Given the description of an element on the screen output the (x, y) to click on. 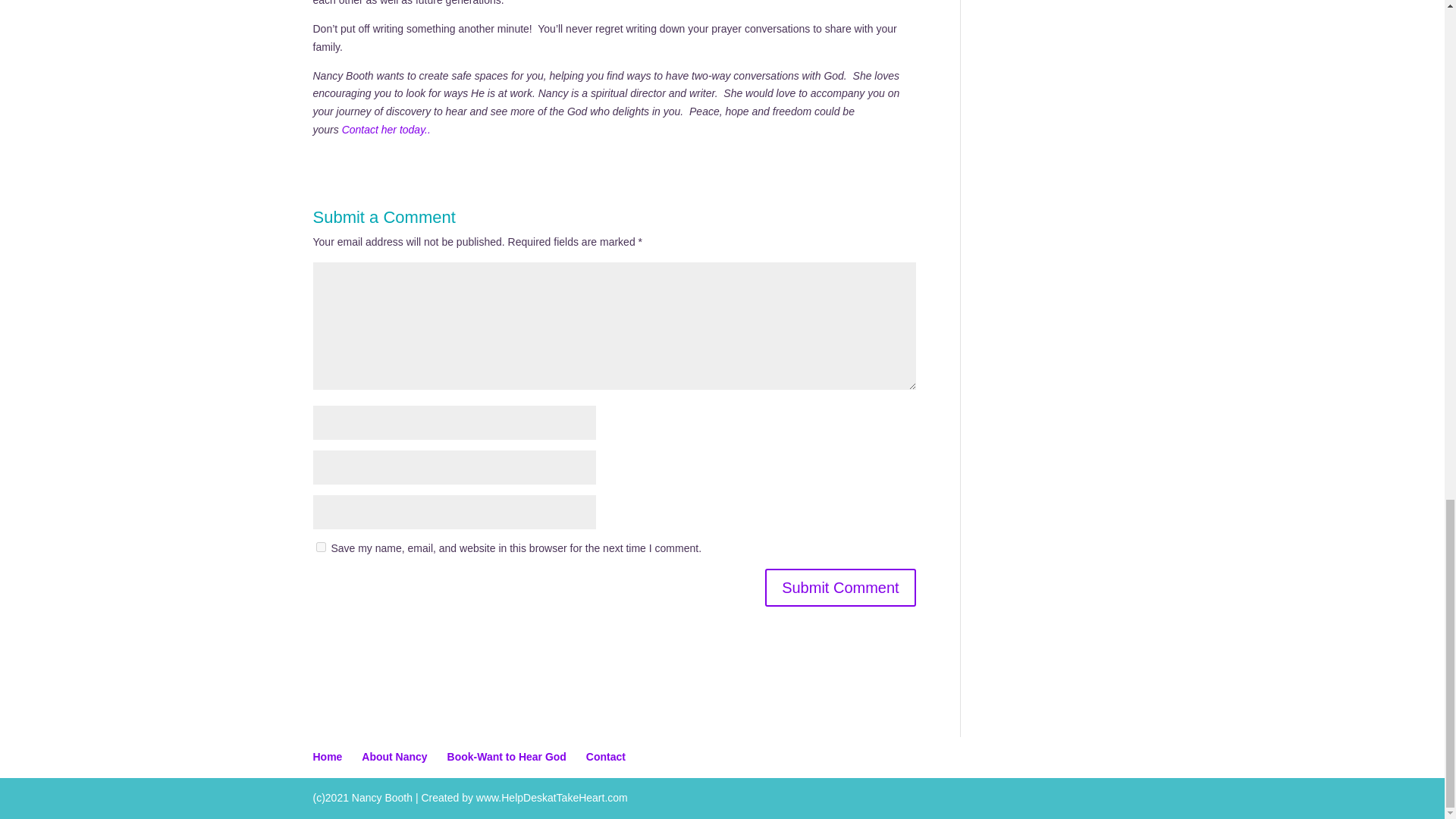
Submit Comment (840, 587)
Submit Comment (840, 587)
Contact her today.. (386, 129)
yes (319, 547)
